Given the description of an element on the screen output the (x, y) to click on. 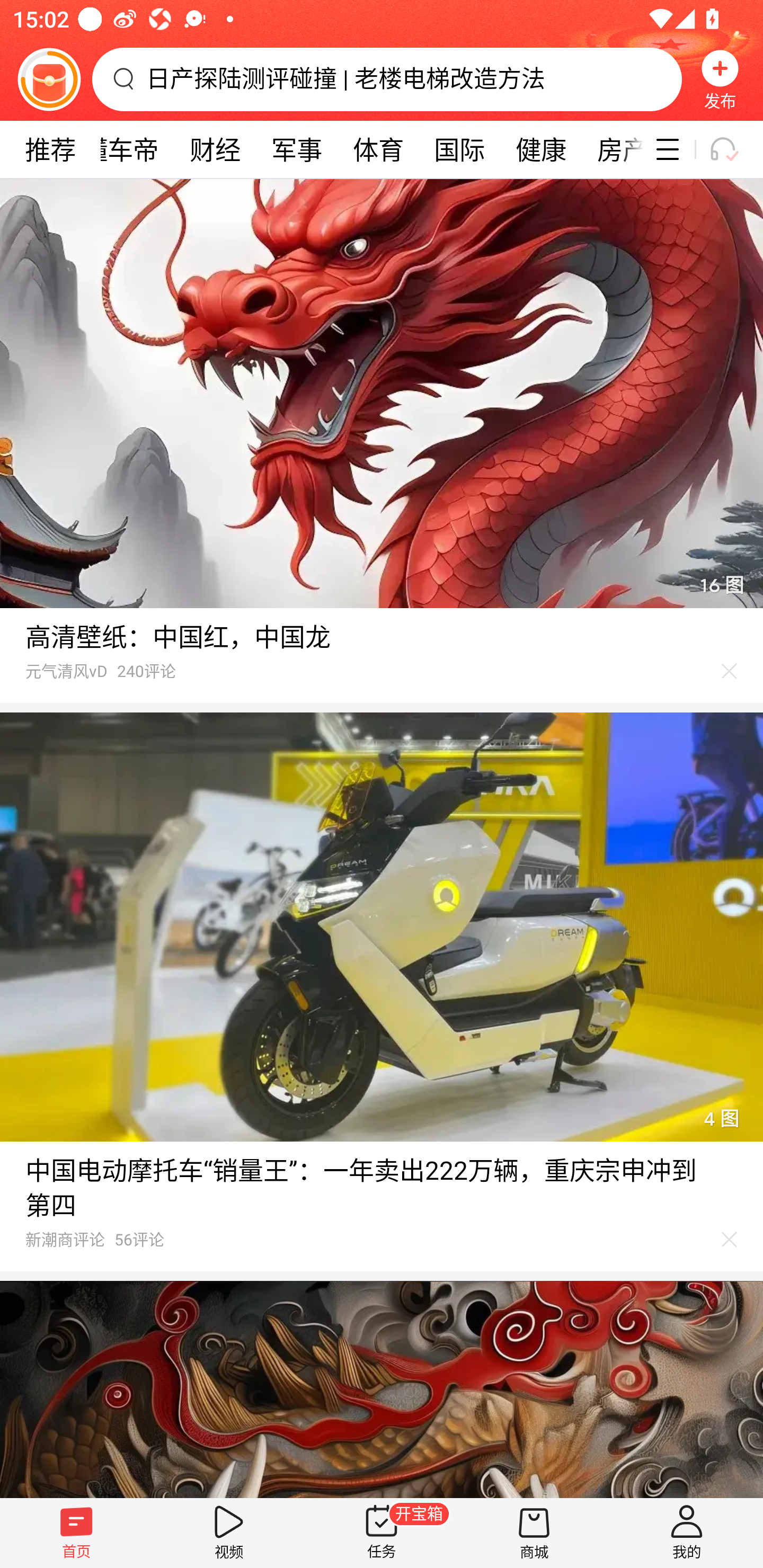
阅读赚金币 (48, 79)
日产探陆测评碰撞 | 老楼电梯改造方法 搜索框，日产探陆测评碰撞 | 老楼电梯改造方法 (387, 79)
发布 发布，按钮 (720, 78)
推荐 (49, 149)
懂车帝 (120, 149)
财经 (214, 149)
军事 (296, 149)
体育 (377, 149)
国际 (458, 149)
健康 (540, 149)
房产 (612, 149)
听一听开关 (732, 149)
不感兴趣 (729, 670)
不感兴趣 (729, 1239)
首页 (76, 1532)
视频 (228, 1532)
任务 开宝箱 (381, 1532)
商城 (533, 1532)
我的 (686, 1532)
